Given the description of an element on the screen output the (x, y) to click on. 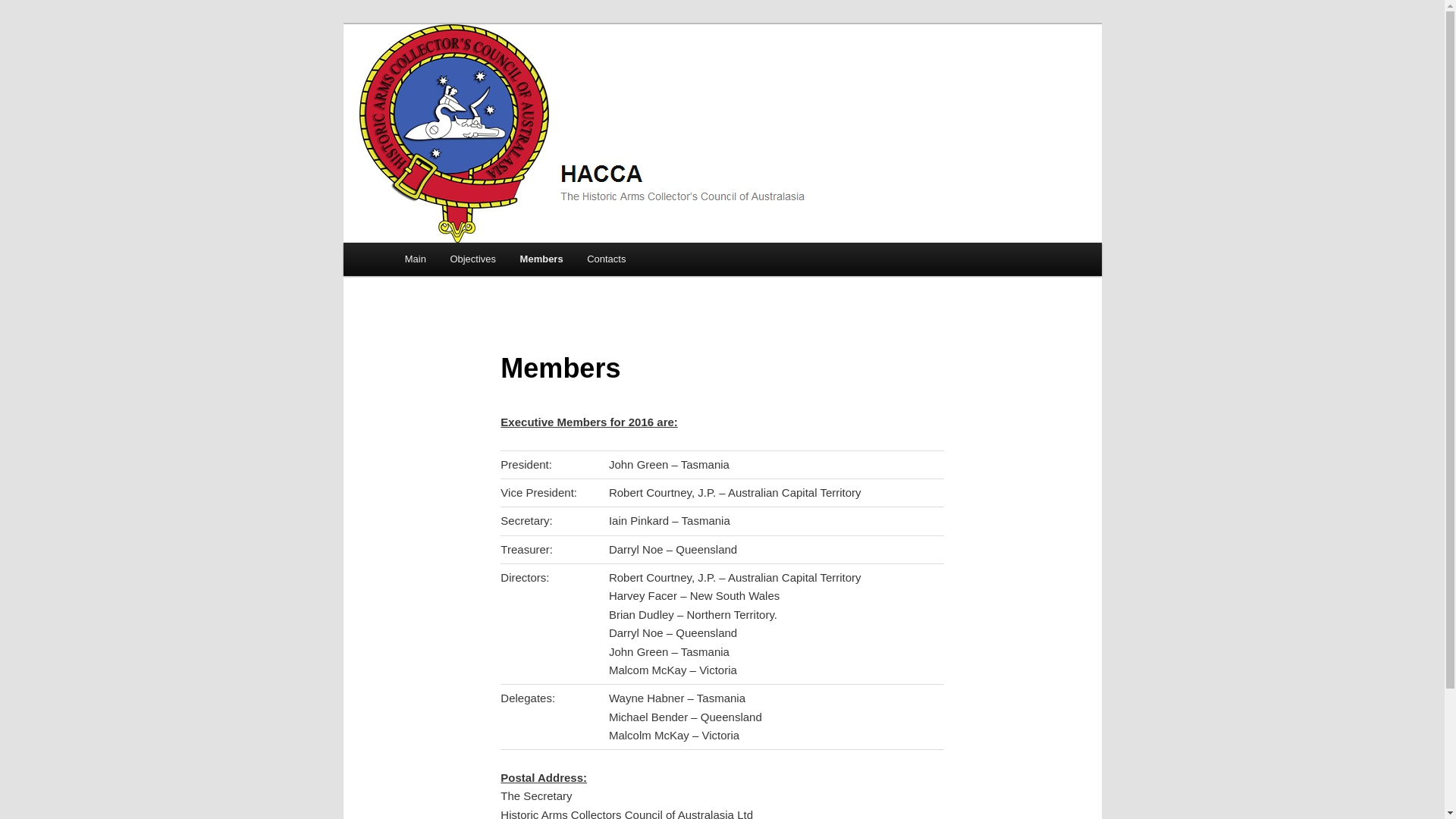
Members Element type: text (541, 258)
Objectives Element type: text (473, 258)
Main Element type: text (415, 258)
Skip to primary content Element type: text (472, 261)
Skip to secondary content Element type: text (479, 261)
HACCA Element type: text (441, 78)
Contacts Element type: text (605, 258)
